Given the description of an element on the screen output the (x, y) to click on. 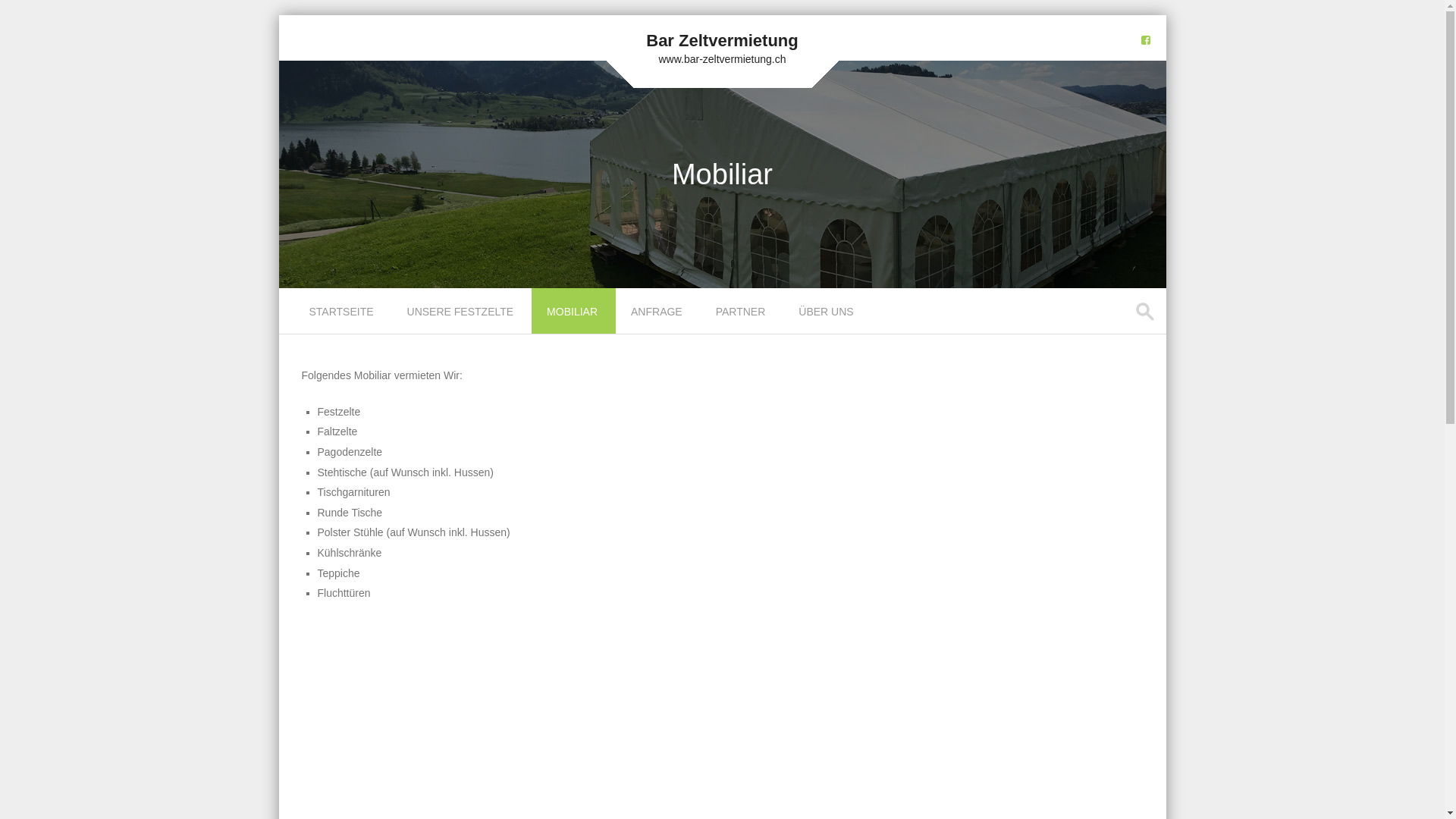
Facebook Element type: hover (1144, 39)
Skip to content Element type: text (314, 297)
Search Element type: text (26, 14)
UNSERE FESTZELTE Element type: text (462, 310)
search Element type: hover (1146, 311)
MOBILIAR Element type: text (573, 310)
STARTSEITE Element type: text (343, 310)
Menu Element type: text (305, 320)
Bar Zeltvermietung Element type: text (722, 40)
ANFRAGE Element type: text (657, 310)
PARTNER Element type: text (742, 310)
